Given the description of an element on the screen output the (x, y) to click on. 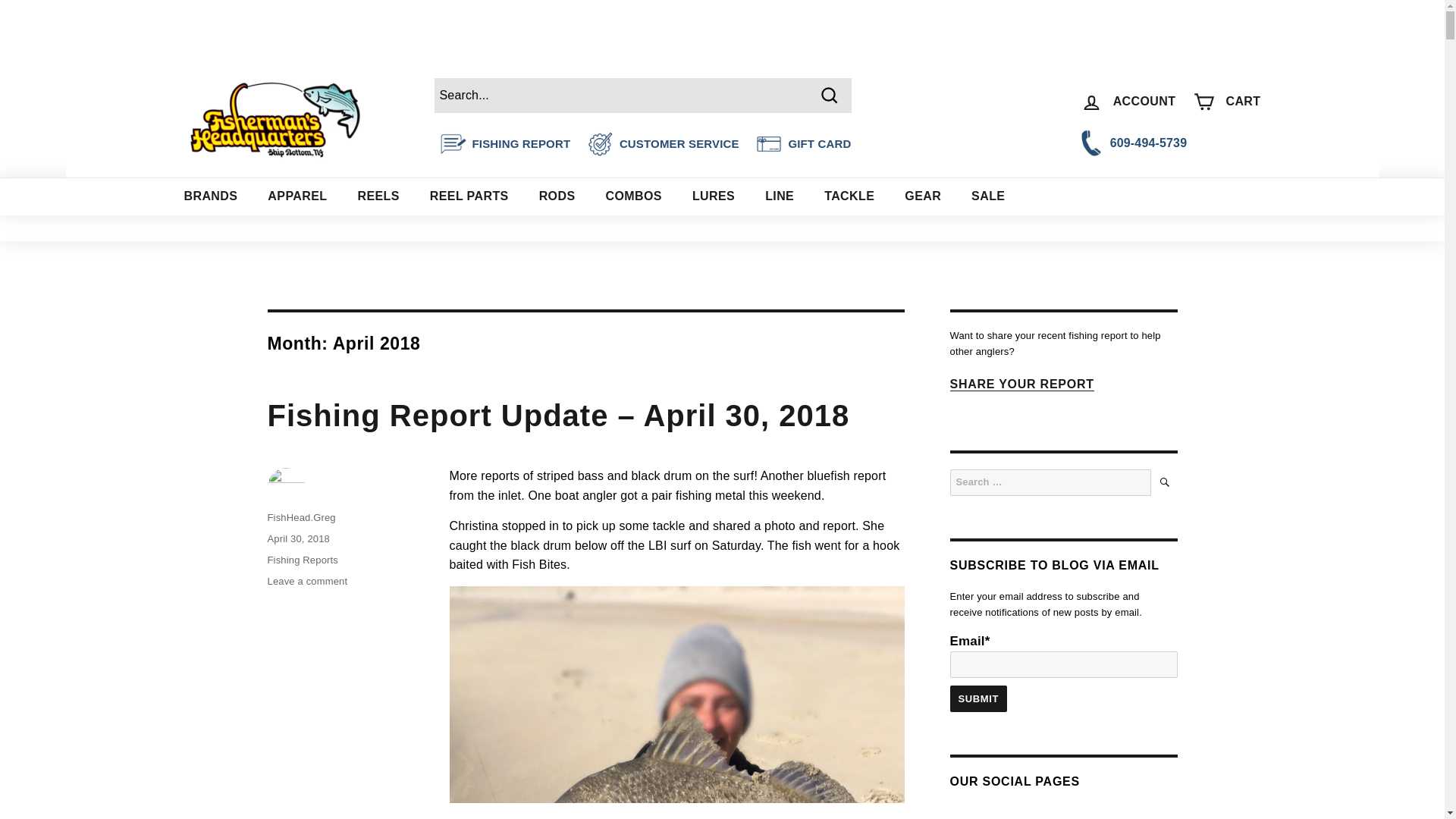
REEL PARTS (469, 196)
TACKLE (849, 196)
Brands (209, 196)
LURES (713, 196)
Reels (377, 196)
RODS (557, 196)
Line (779, 196)
SALE (988, 196)
ACCOUNT (1128, 100)
COMBOS (633, 196)
GEAR (922, 196)
Gear (922, 196)
FISHING REPORT (520, 143)
REELS (377, 196)
Combos (633, 196)
